Given the description of an element on the screen output the (x, y) to click on. 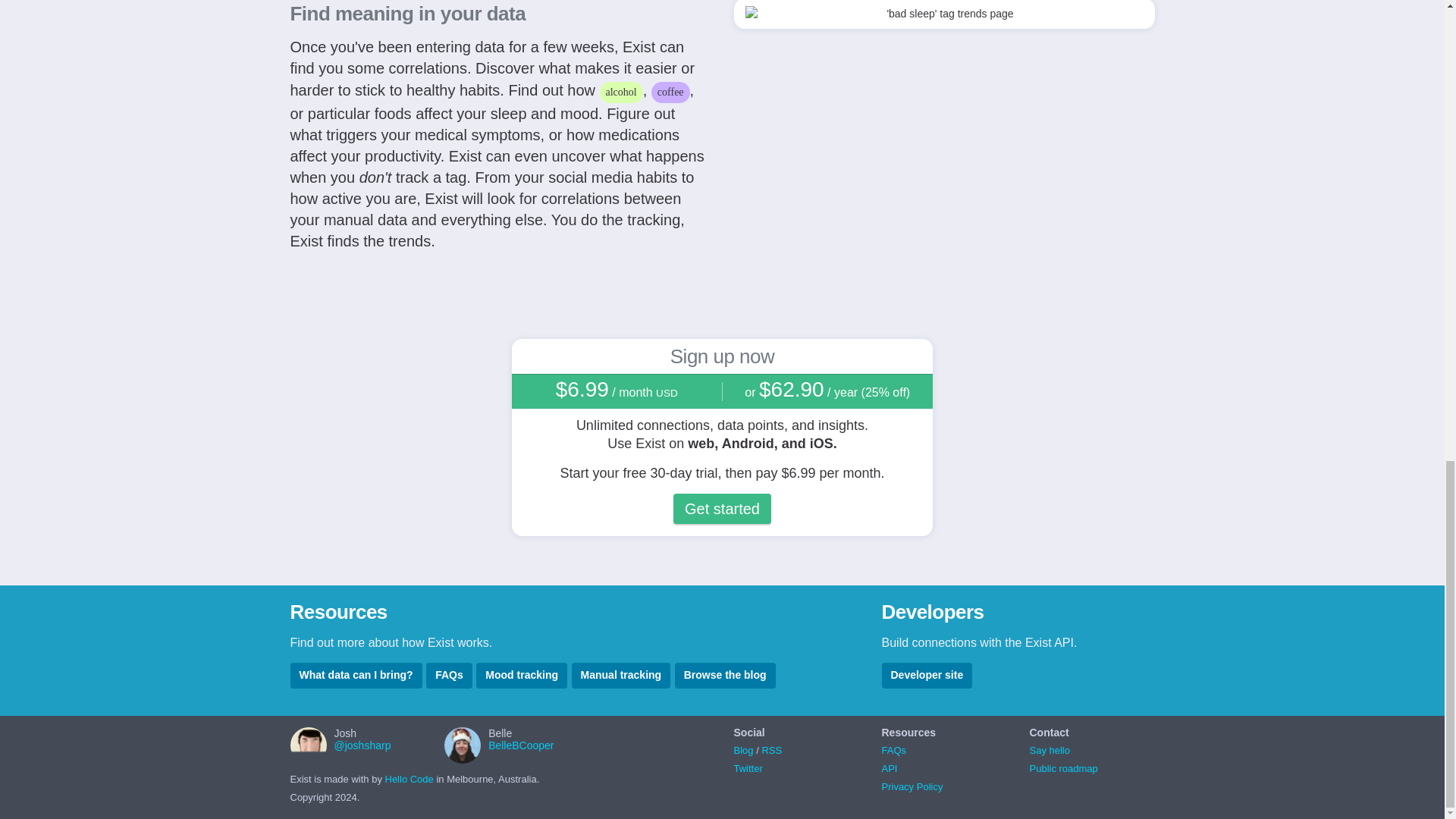
FAQs (892, 749)
Say hello (1049, 749)
What data can I bring? (355, 675)
Public roadmap (1063, 767)
Twitter (747, 767)
FAQs (448, 675)
Browse the blog (725, 675)
Hello Code (409, 778)
Mood tracking (521, 675)
API (888, 767)
